Given the description of an element on the screen output the (x, y) to click on. 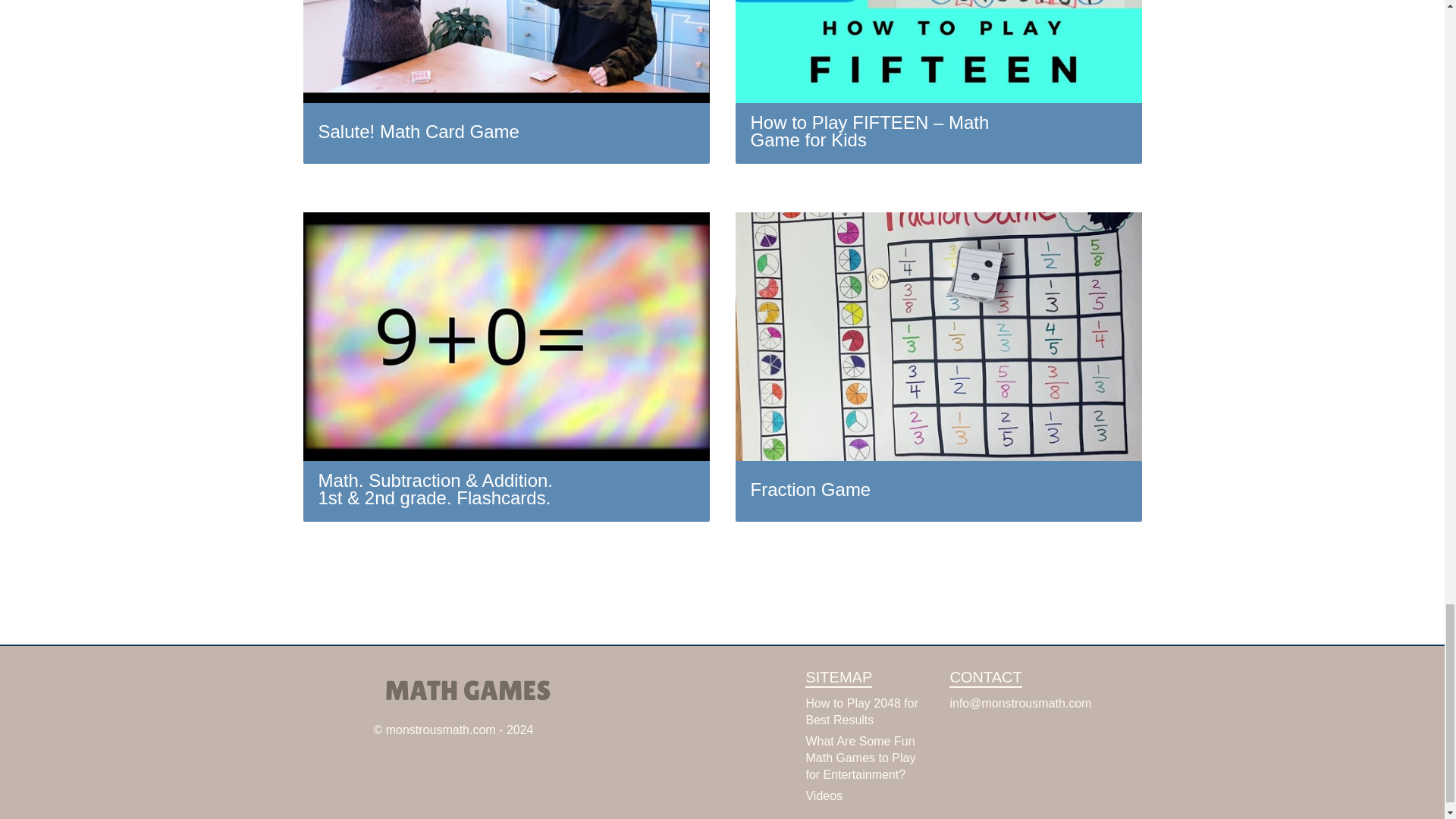
Salute! Math Card Game (506, 81)
How to Play 2048 for Best Results (861, 711)
What Are Some Fun Math Games to Play for Entertainment? (860, 758)
Fraction Game (938, 366)
Videos (824, 795)
